Given the description of an element on the screen output the (x, y) to click on. 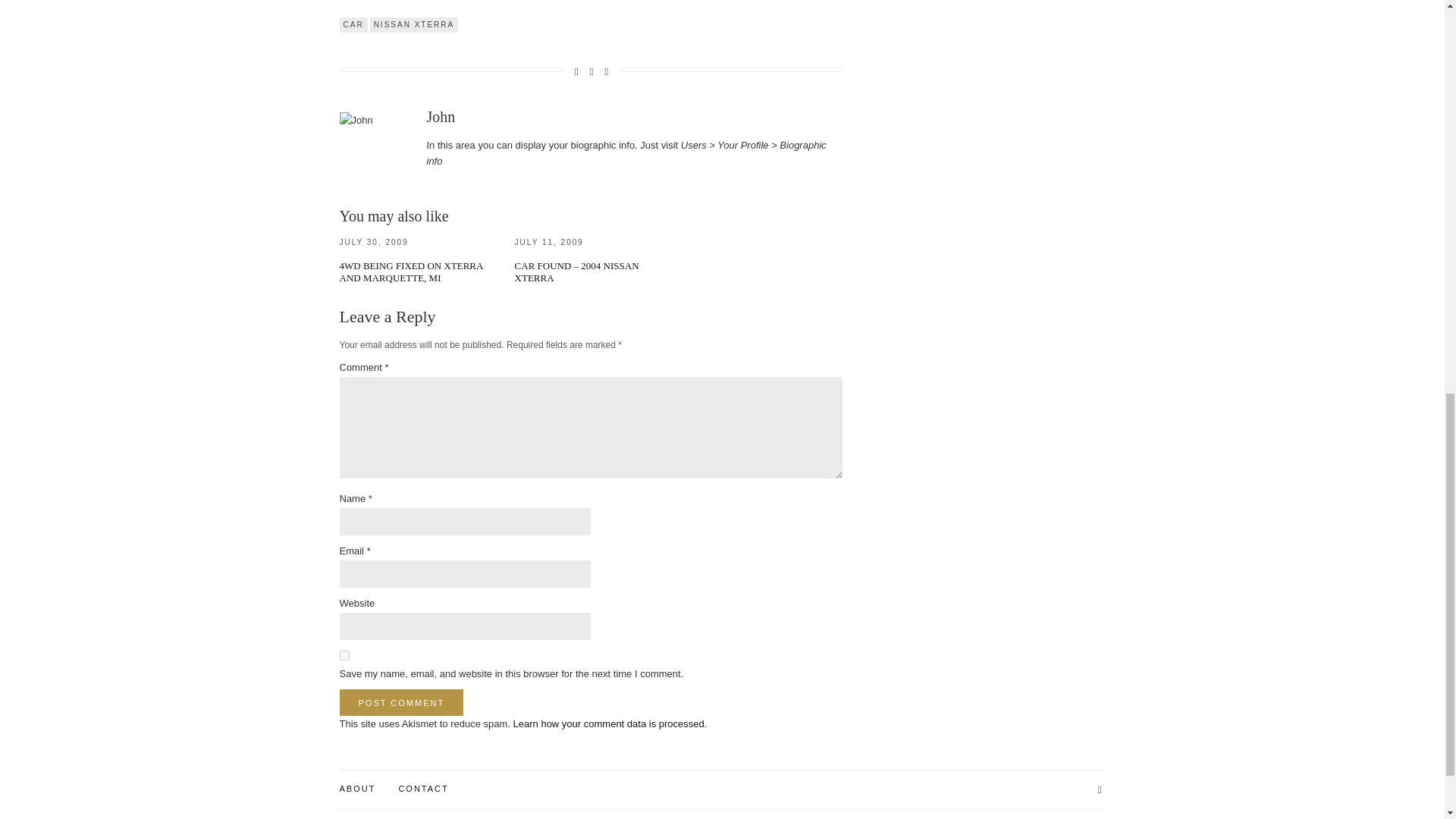
NISSAN XTERRA (413, 24)
yes (344, 655)
Post Comment (401, 702)
ABOUT (357, 789)
Post Comment (401, 702)
4WD BEING FIXED ON XTERRA AND MARQUETTE, MI (411, 271)
Learn how your comment data is processed (608, 723)
CONTACT (422, 789)
CAR (353, 24)
